Given the description of an element on the screen output the (x, y) to click on. 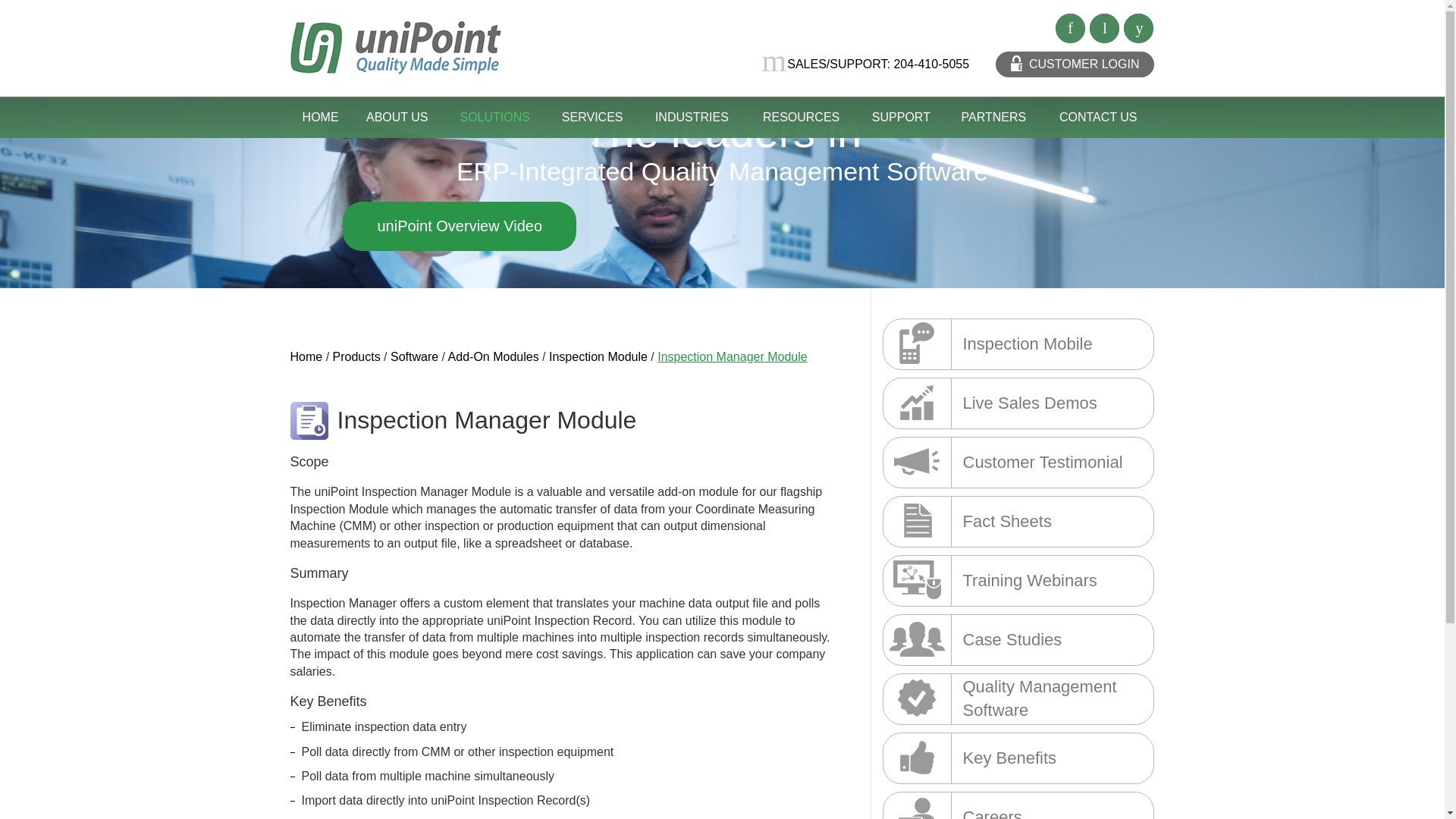
Home (319, 117)
HOME (319, 117)
Facebook (1070, 28)
SOLUTIONS (495, 117)
204-410-5055 (931, 63)
YouTube (1138, 28)
ABOUT US (397, 117)
Customer Login (1074, 63)
SERVICES (593, 117)
CUSTOMER LOGIN (1074, 63)
About Us (397, 117)
LinkedIn (1104, 28)
